Given the description of an element on the screen output the (x, y) to click on. 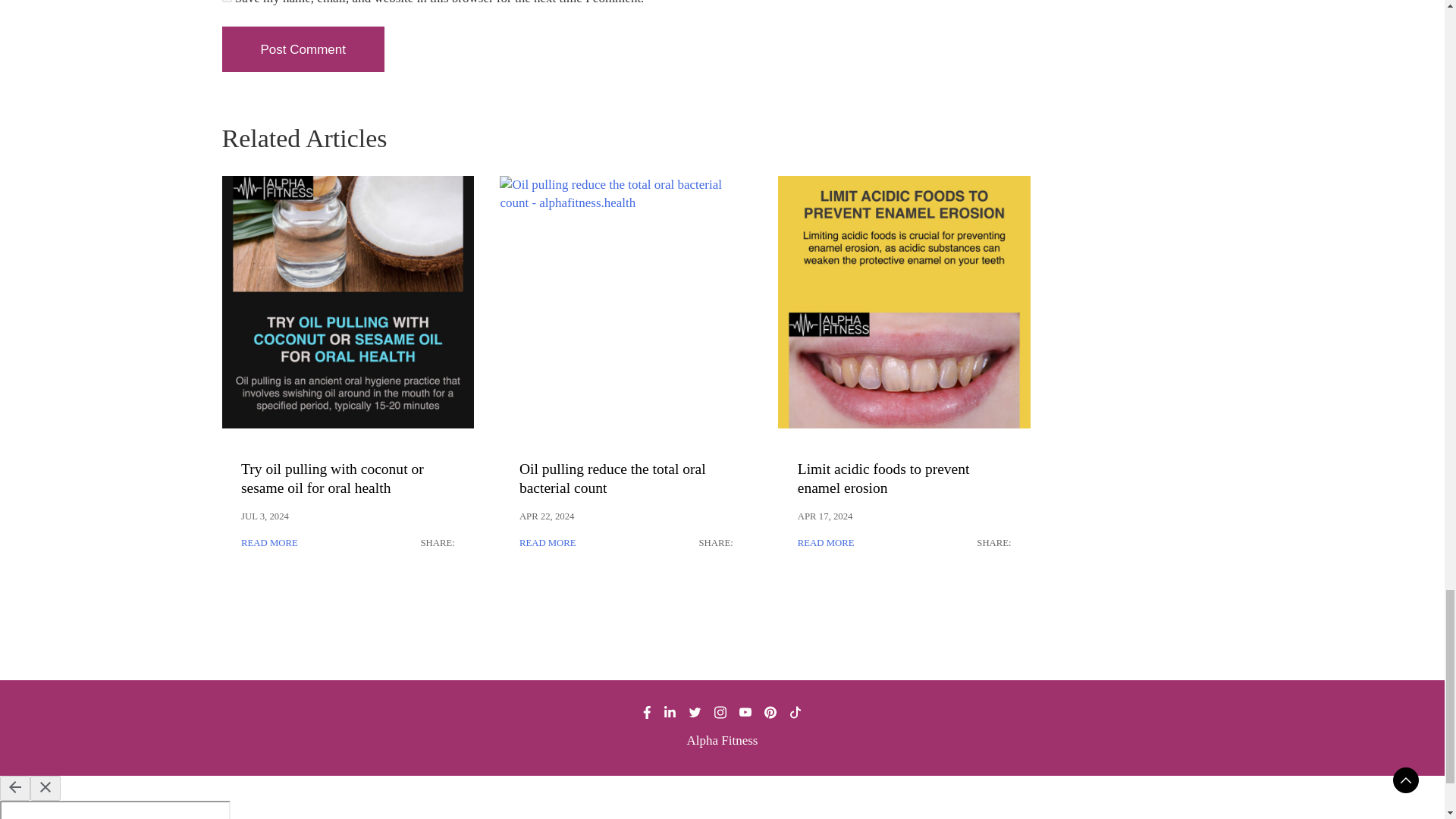
Post Comment (302, 49)
